Given the description of an element on the screen output the (x, y) to click on. 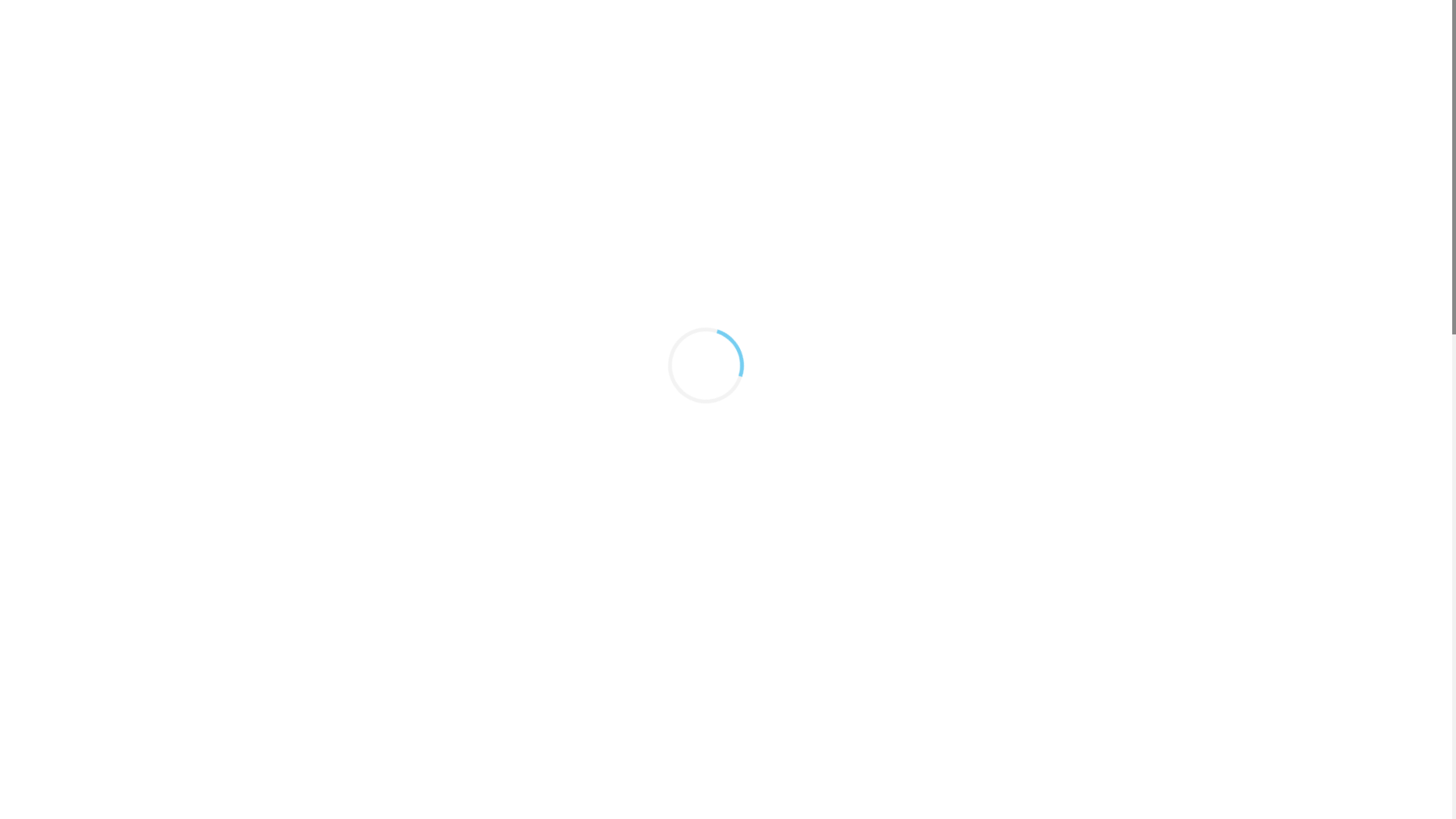
I agree Element type: text (388, 801)
Get started for free on Match.it Element type: text (725, 290)
